Given the description of an element on the screen output the (x, y) to click on. 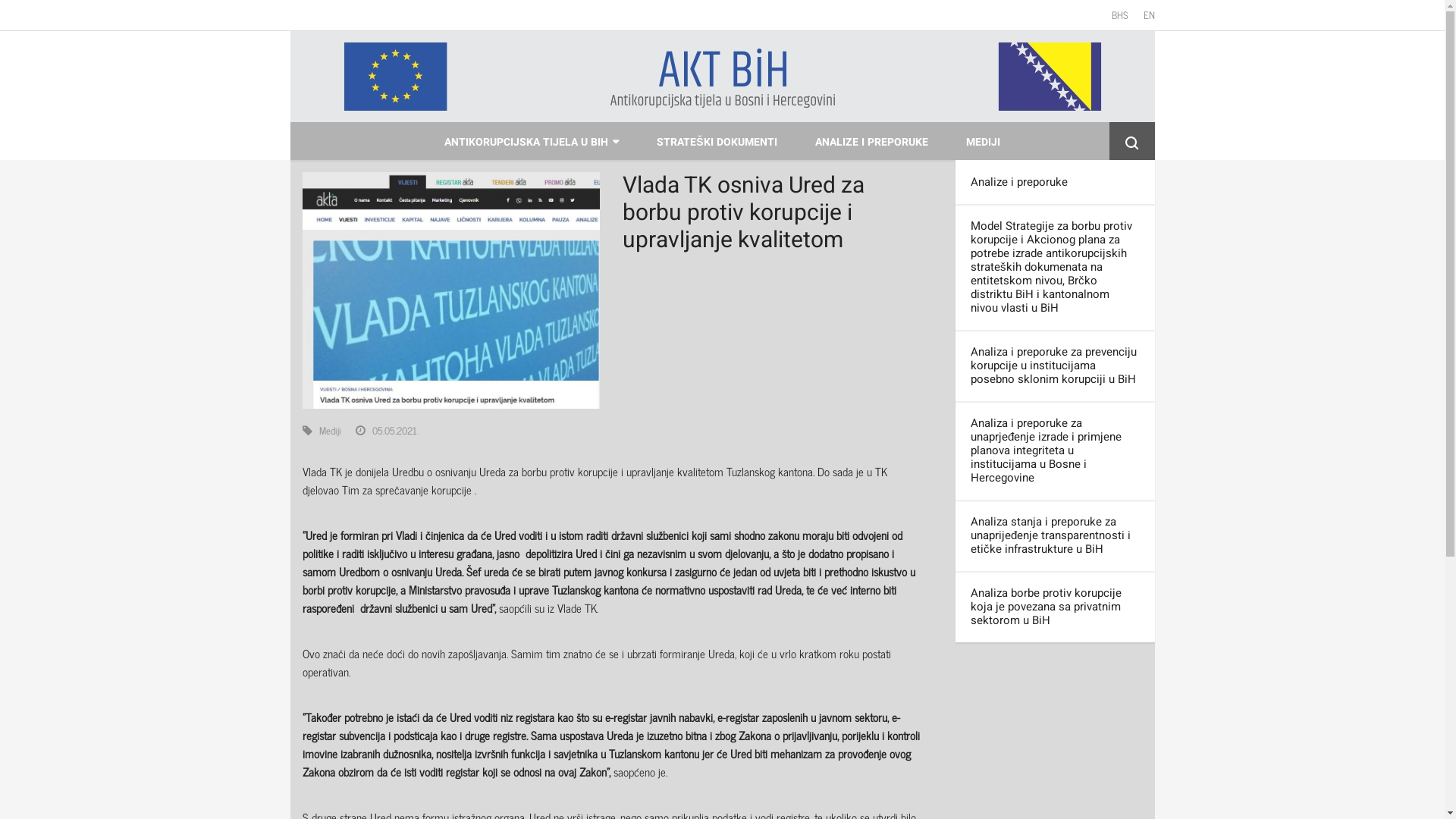
EN Element type: text (1148, 14)
BHS Element type: text (1119, 14)
MEDIJI Element type: text (983, 141)
ANALIZE I PREPORUKE Element type: text (871, 141)
ANTIKORUPCIJSKA TIJELA U BIH Element type: text (531, 141)
